Given the description of an element on the screen output the (x, y) to click on. 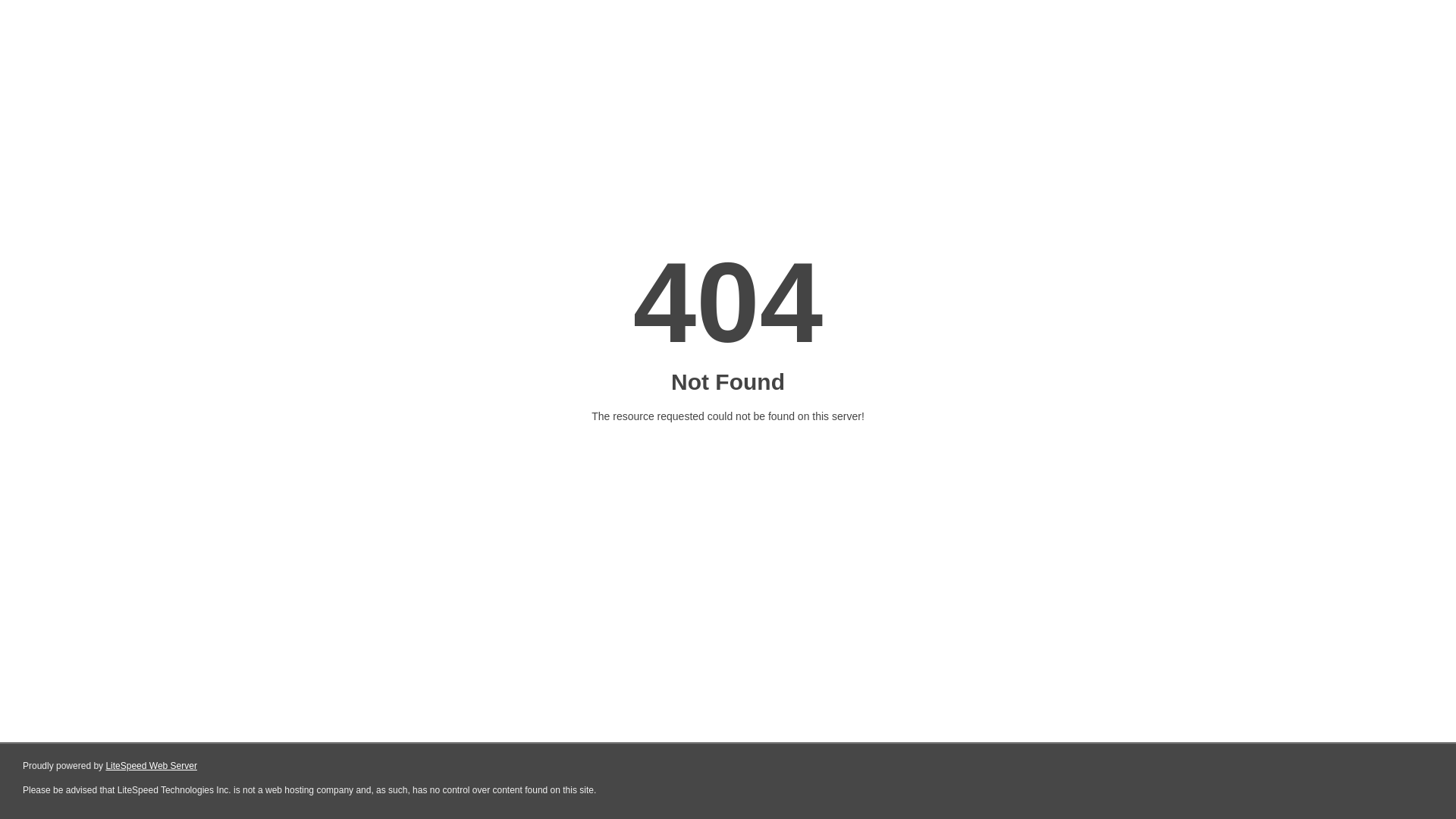
LiteSpeed Web Server Element type: text (151, 765)
